Given the description of an element on the screen output the (x, y) to click on. 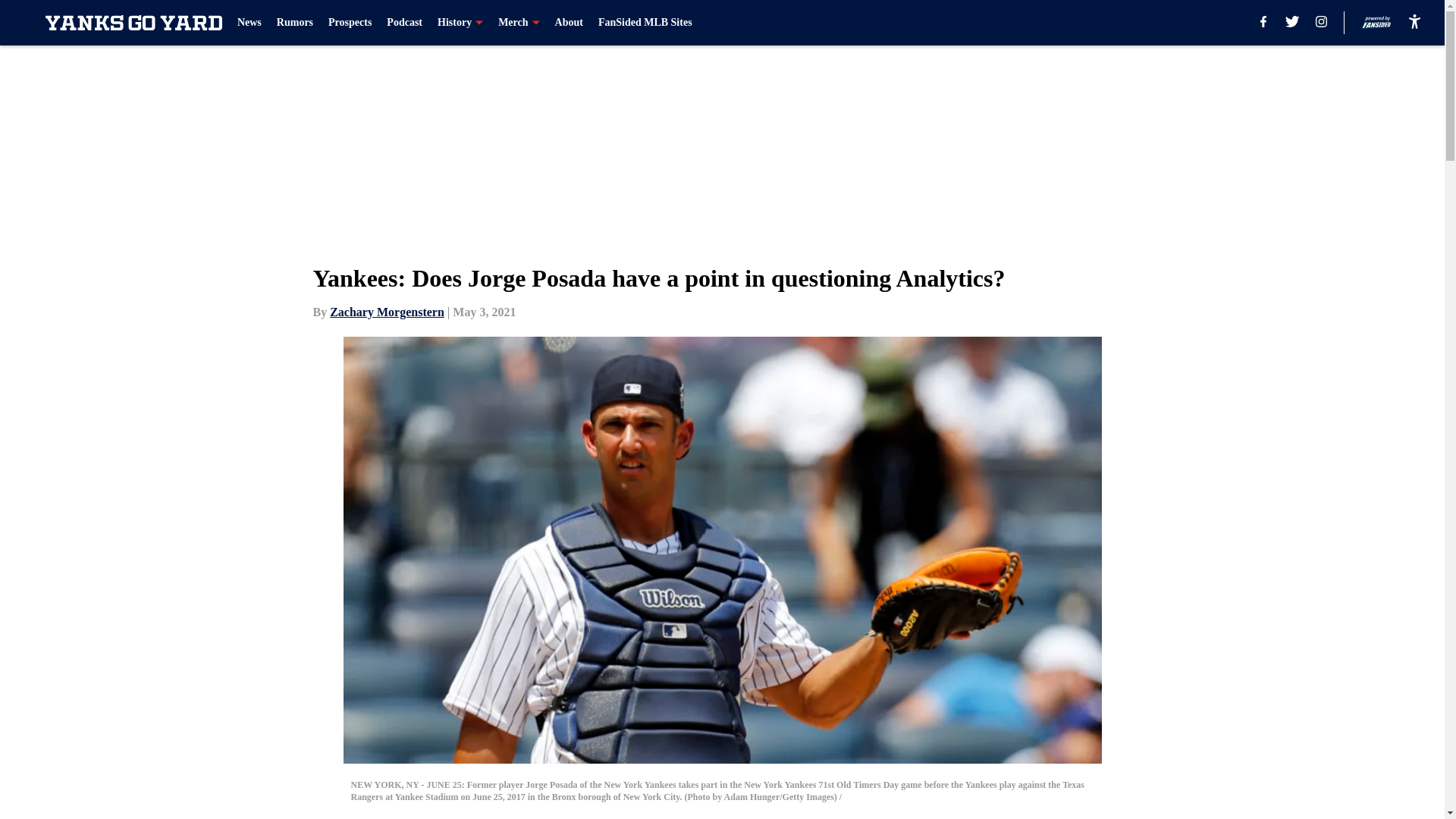
News (249, 22)
Rumors (294, 22)
About (568, 22)
Podcast (404, 22)
FanSided MLB Sites (645, 22)
Prospects (350, 22)
Zachary Morgenstern (387, 311)
